Given the description of an element on the screen output the (x, y) to click on. 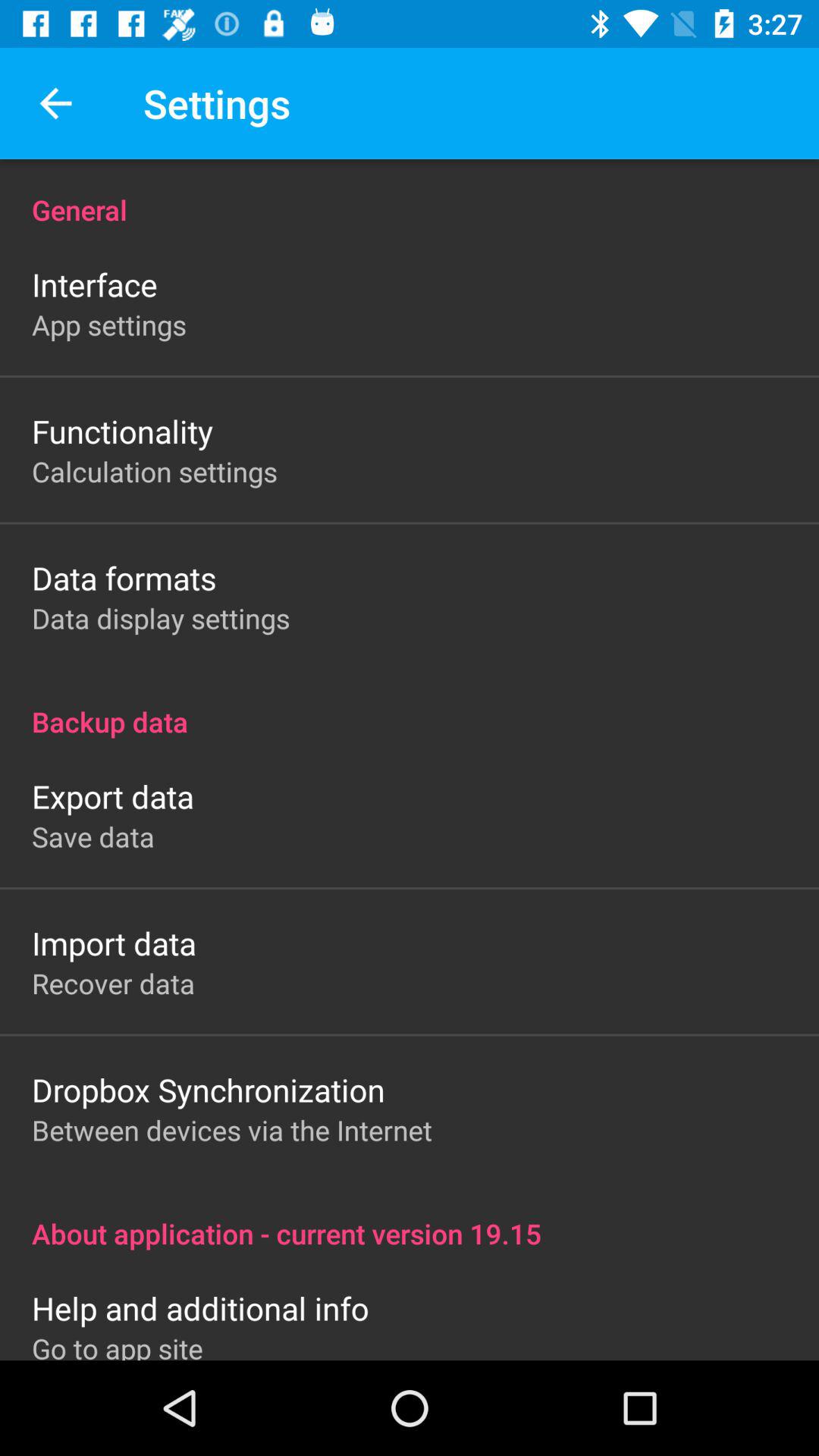
jump to the general icon (409, 193)
